Given the description of an element on the screen output the (x, y) to click on. 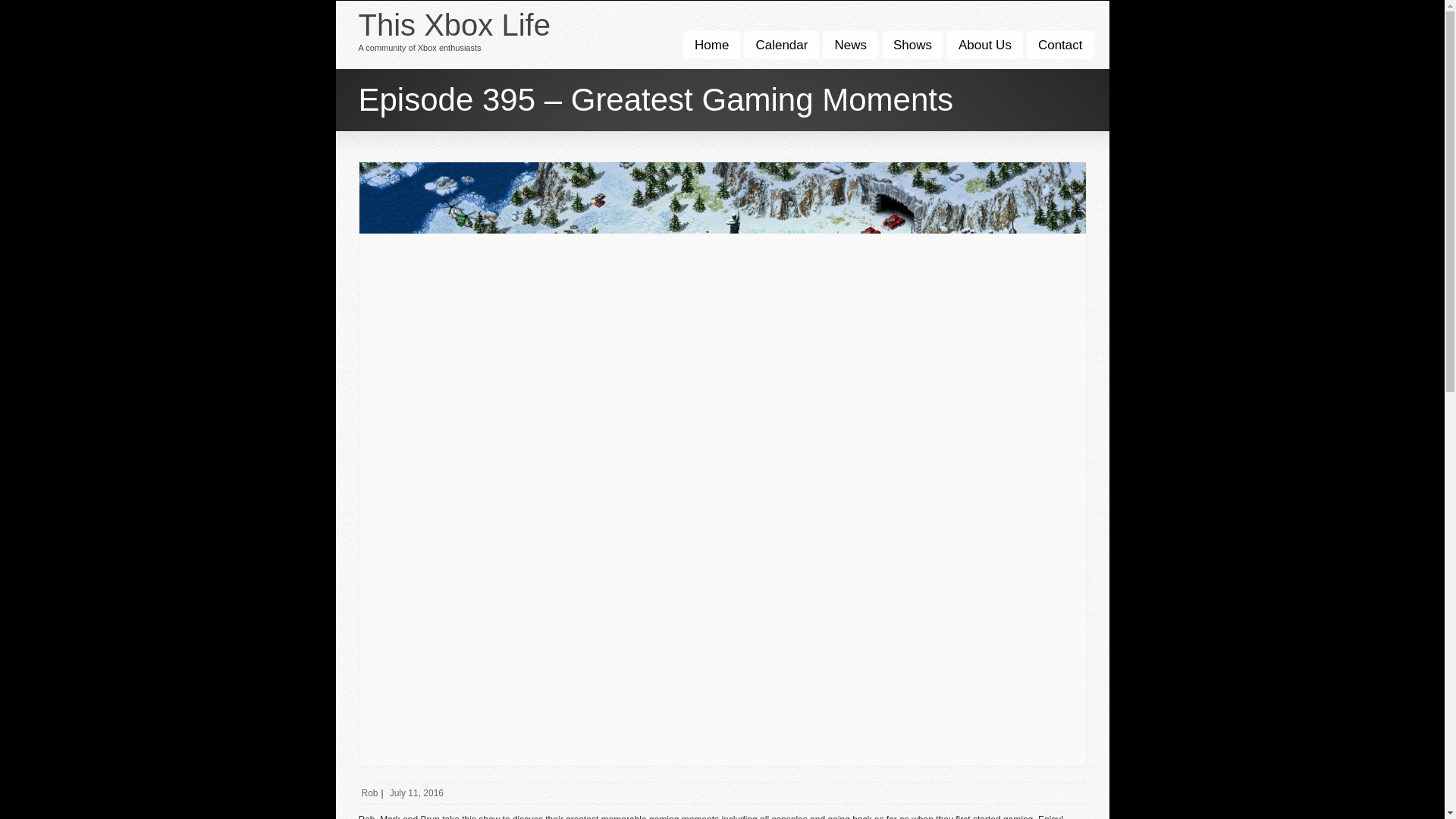
Calendar (781, 44)
Rob (369, 792)
Shows (912, 44)
Contact (1060, 44)
About Us (985, 44)
Posts by Rob (369, 792)
This Xbox Life (454, 23)
Home (710, 44)
News (849, 44)
July 11, 2016 (415, 792)
